Given the description of an element on the screen output the (x, y) to click on. 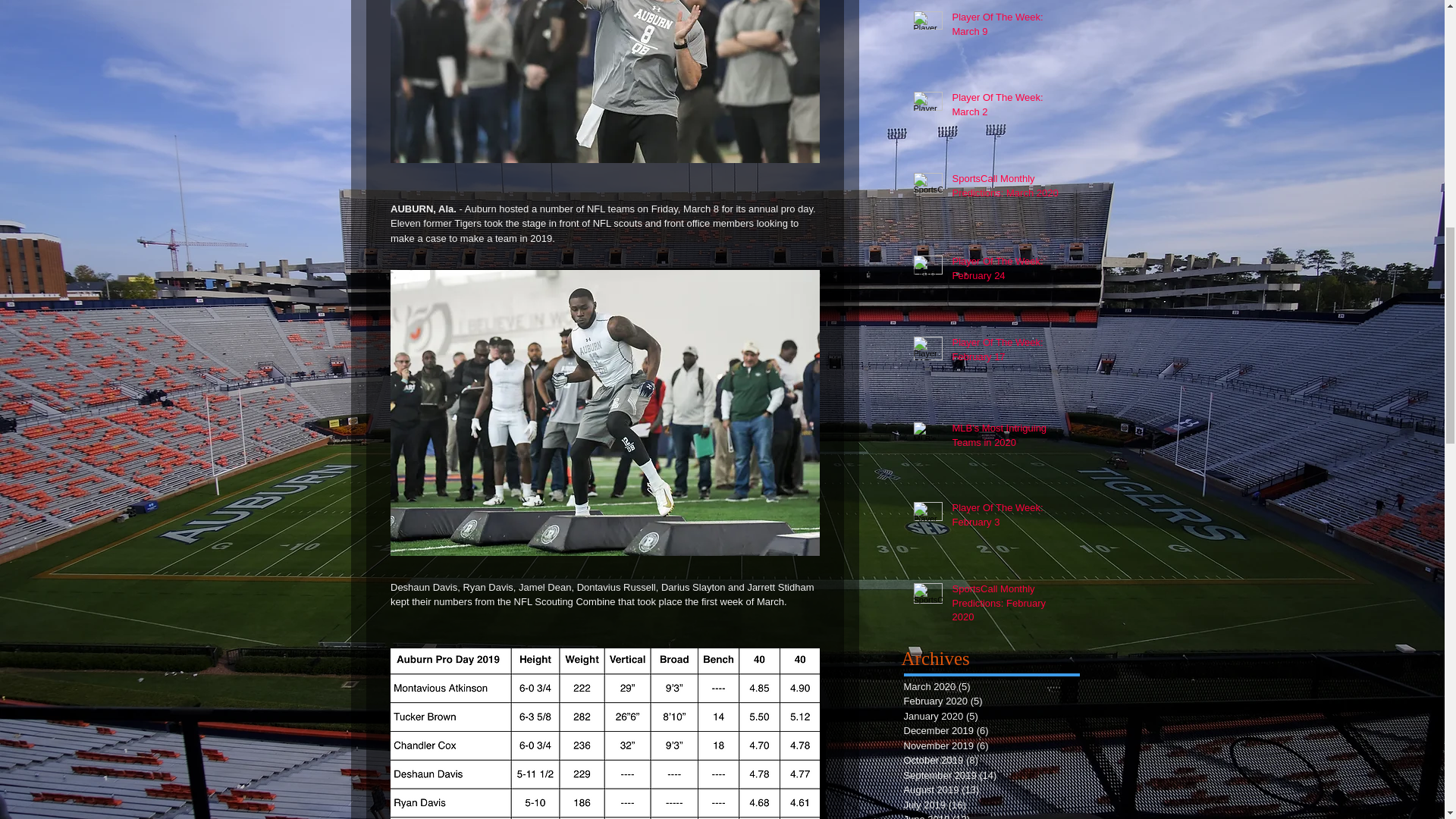
SportsCall Monthly Predictions: March 2020 (1006, 188)
Player Of The Week: February 3 (1006, 517)
SportsCall Monthly Predictions: February 2020 (1006, 605)
Player Of The Week: February 17 (1006, 352)
MLB's Most Intriguing Teams in 2020 (1006, 438)
Player Of The Week: March 9 (1006, 27)
Player Of The Week: March 2 (1006, 107)
Player Of The Week: February 24 (1006, 271)
